Given the description of an element on the screen output the (x, y) to click on. 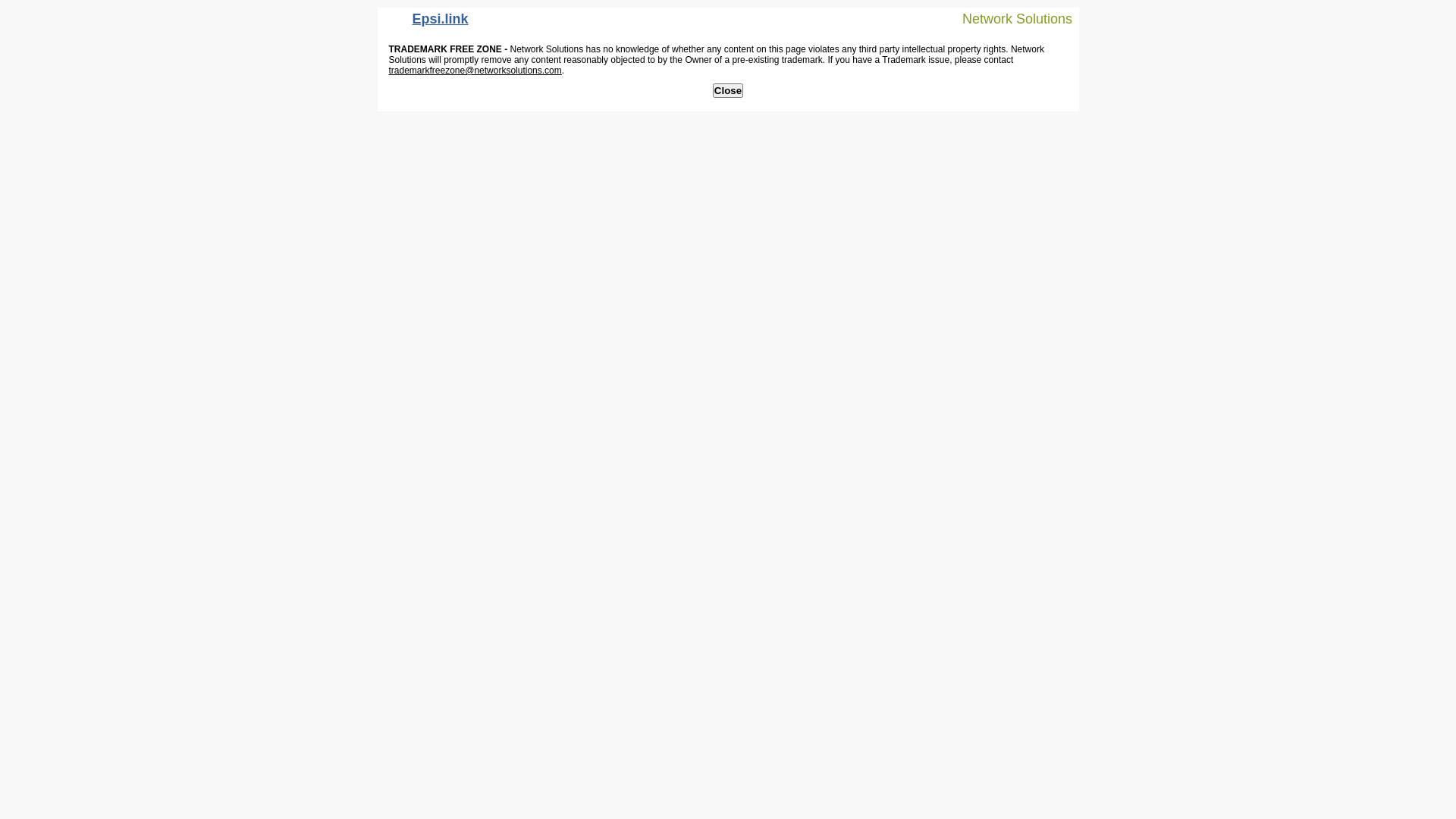
Close Element type: text (727, 90)
Epsi.link Element type: text (426, 21)
trademarkfreezone@networksolutions.com Element type: text (474, 70)
Network Solutions Element type: text (1007, 17)
